Given the description of an element on the screen output the (x, y) to click on. 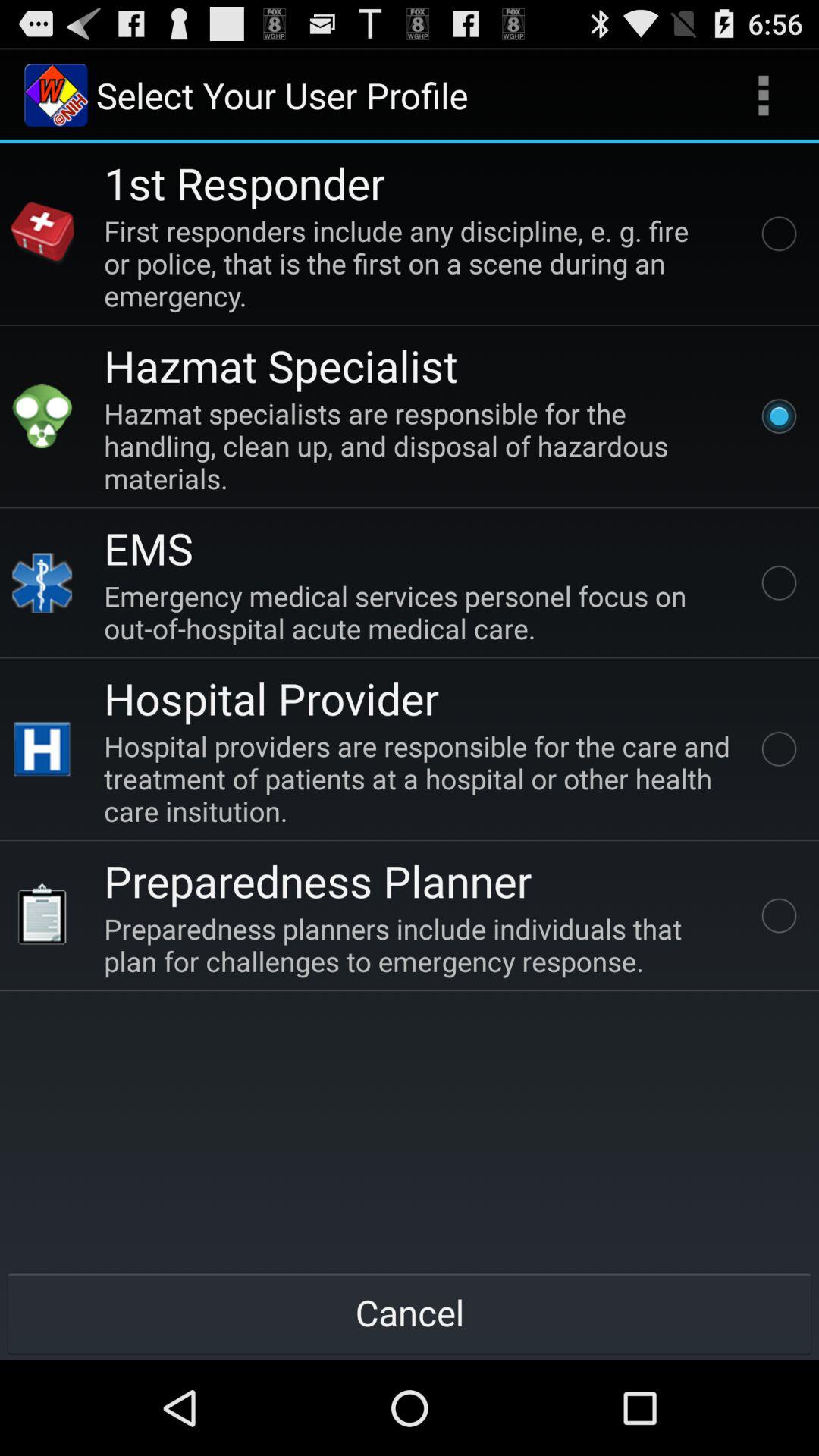
turn on item above the preparedness planner (420, 778)
